Given the description of an element on the screen output the (x, y) to click on. 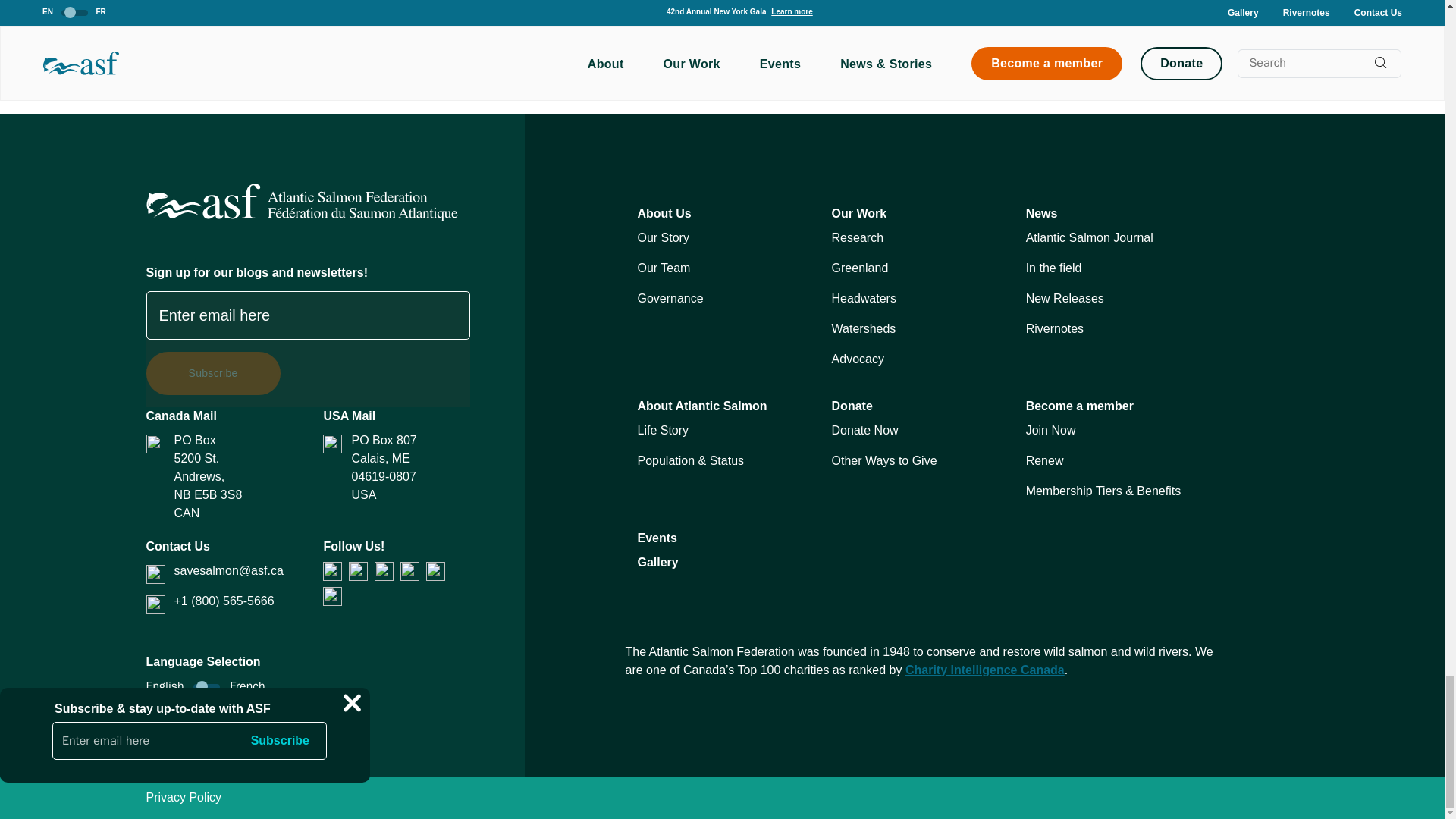
PO Box 5200 St. Andrews, NB E5B 3S8 CAN (234, 476)
PO Box 807 Calais, ME 04619-0807 USA (410, 467)
Subscribe (212, 373)
Subscribe (212, 373)
